Given the description of an element on the screen output the (x, y) to click on. 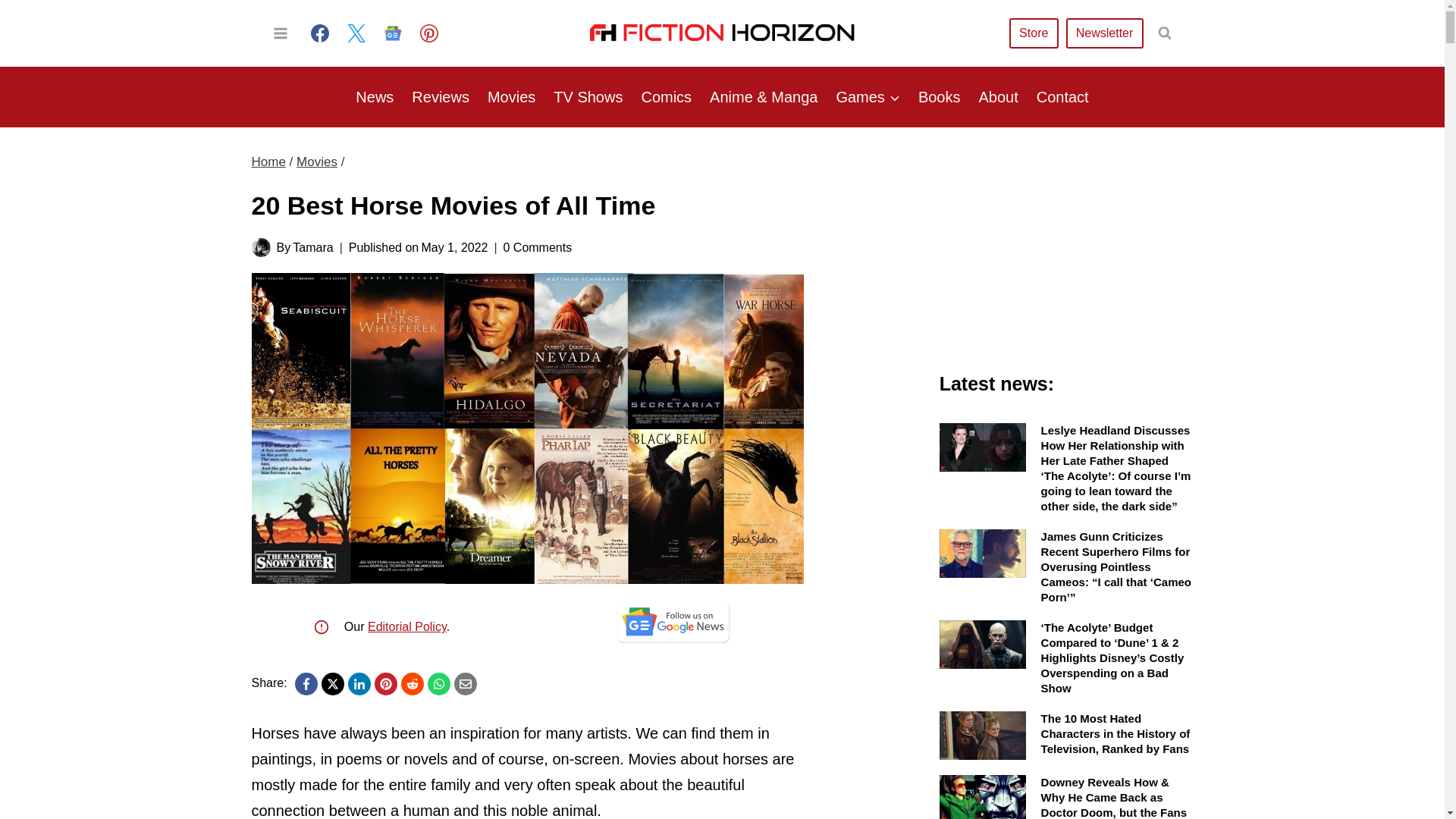
Games (867, 96)
Comics (665, 96)
Home (268, 161)
Editorial Policy (407, 626)
Reviews (441, 96)
Contact (1062, 96)
Store (1033, 32)
News (374, 96)
Movies (511, 96)
TV Shows (587, 96)
